Given the description of an element on the screen output the (x, y) to click on. 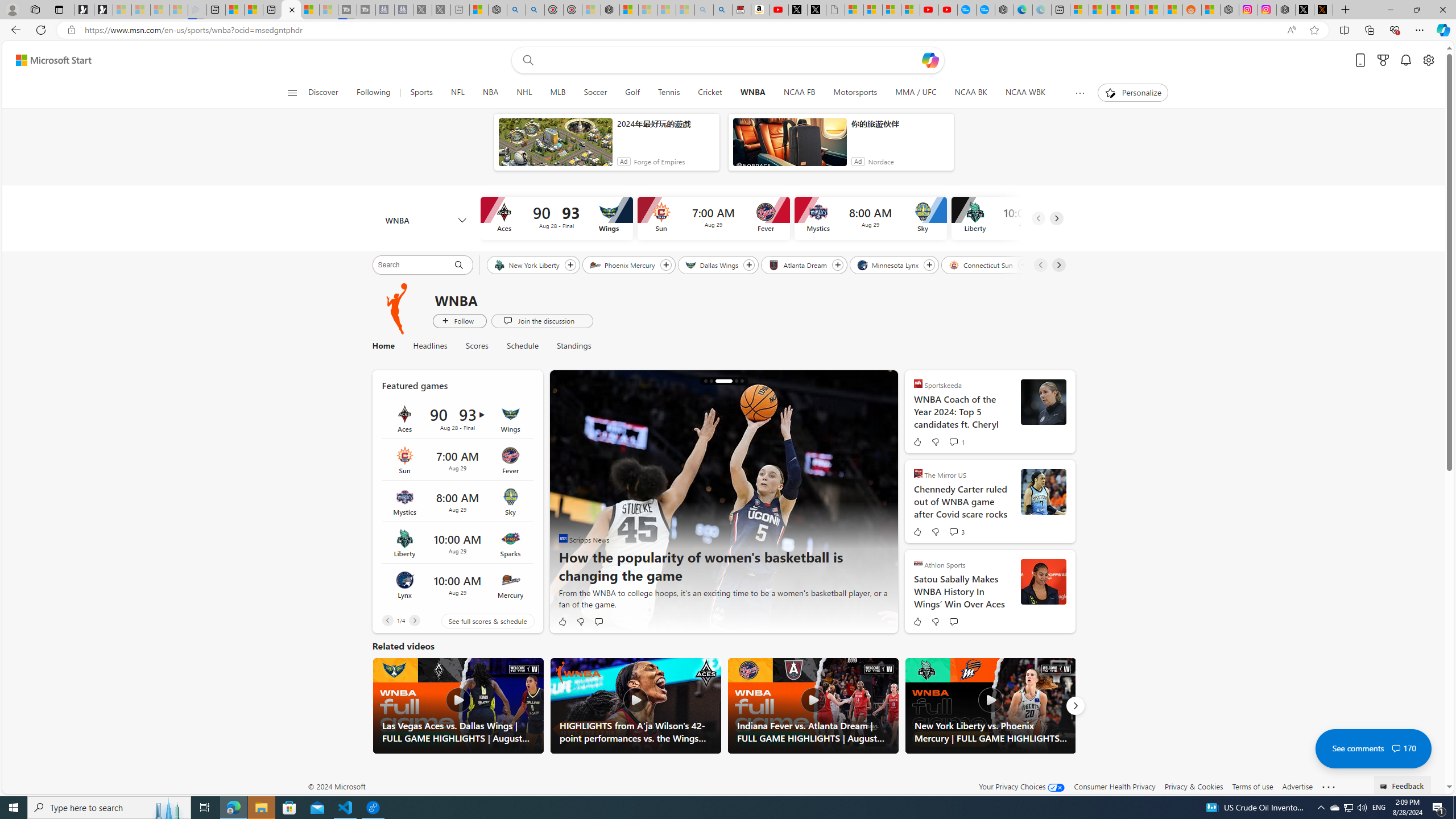
NCAA BK (969, 92)
New tab - Sleeping (459, 9)
Connecticut Sun (982, 264)
Shanghai, China hourly forecast | Microsoft Weather (1116, 9)
NCAA BK (970, 92)
Nordace - Nordace has arrived Hong Kong (1004, 9)
Terms of use (1252, 785)
Sports (421, 92)
NCAA WBK (1024, 92)
Newsletter Sign Up (102, 9)
Shanghai, China Weather trends | Microsoft Weather (1173, 9)
View comments 3 Comment (953, 531)
